Given the description of an element on the screen output the (x, y) to click on. 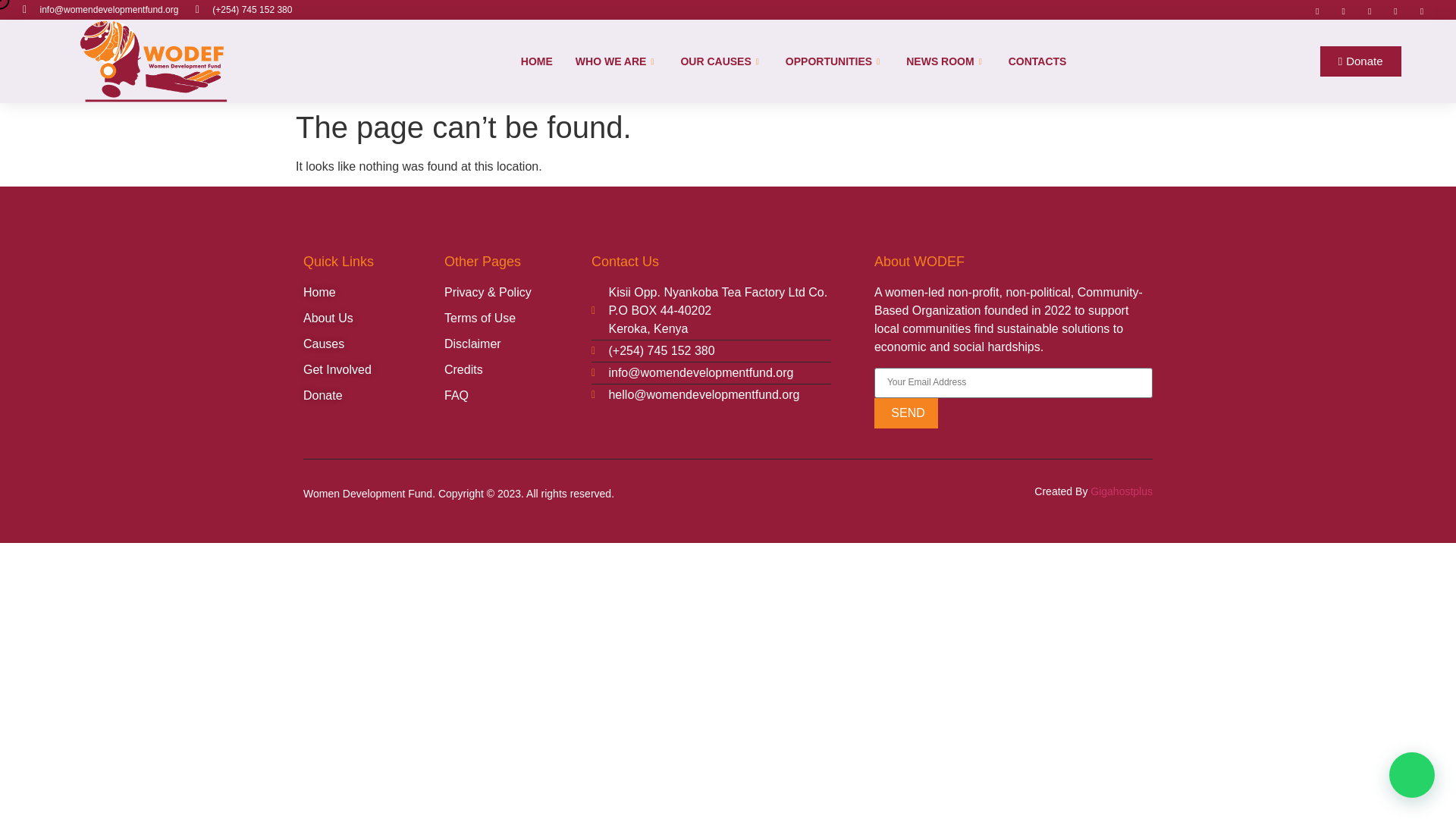
Causes (373, 343)
NEWS ROOM (945, 61)
OUR CAUSES (720, 61)
Terms of Use (517, 318)
FAQ (517, 395)
Credits (517, 370)
WHO WE ARE (616, 61)
Donate (1360, 60)
About Us (373, 318)
CONTACTS (1037, 61)
OPPORTUNITIES (834, 61)
HOME (536, 61)
Get Involved (373, 370)
Disclaimer (517, 343)
Home (373, 292)
